Given the description of an element on the screen output the (x, y) to click on. 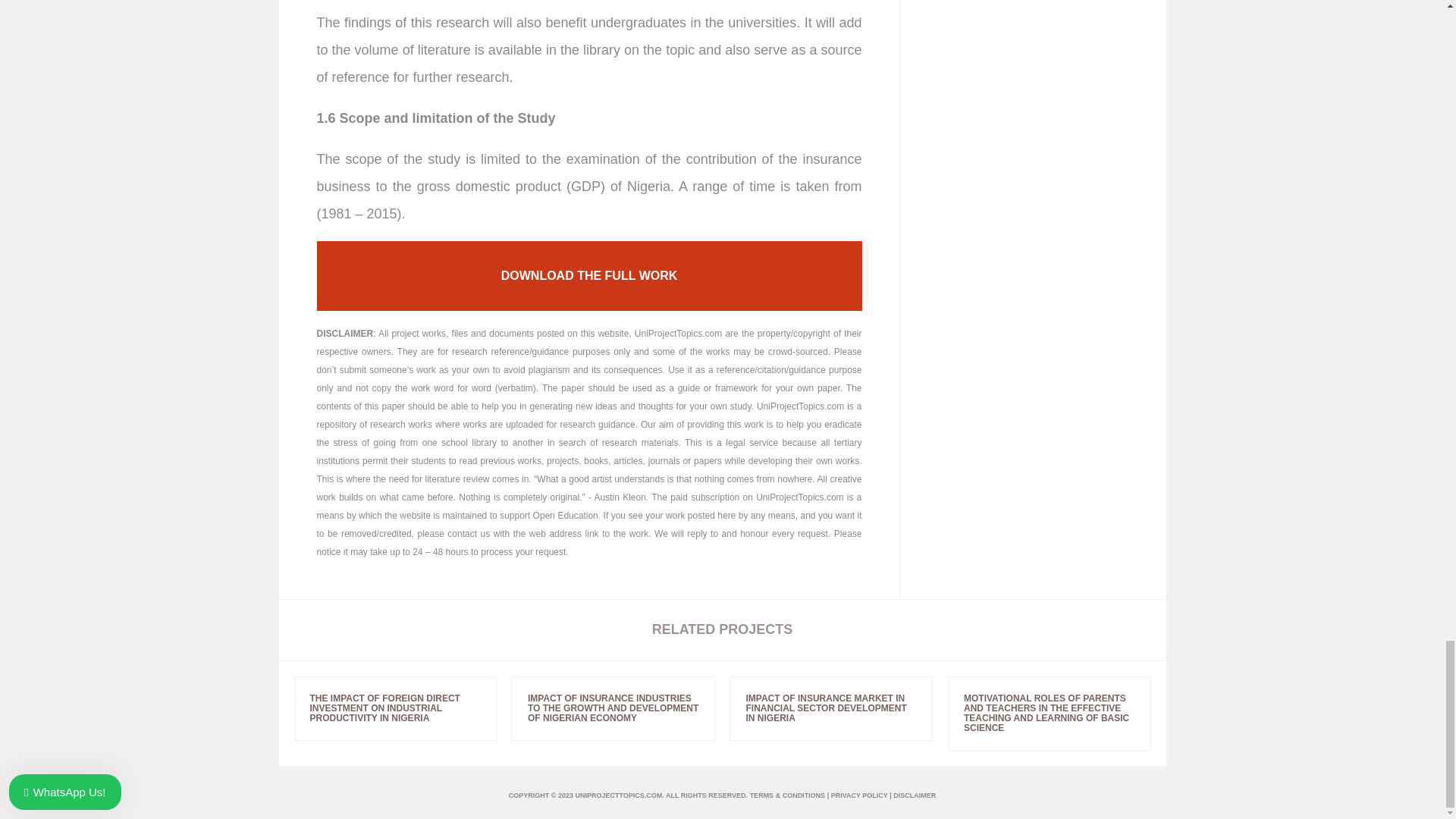
DISCLAIMER (914, 795)
PRIVACY POLICY (859, 795)
DOWNLOAD THE FULL WORK (589, 275)
